Given the description of an element on the screen output the (x, y) to click on. 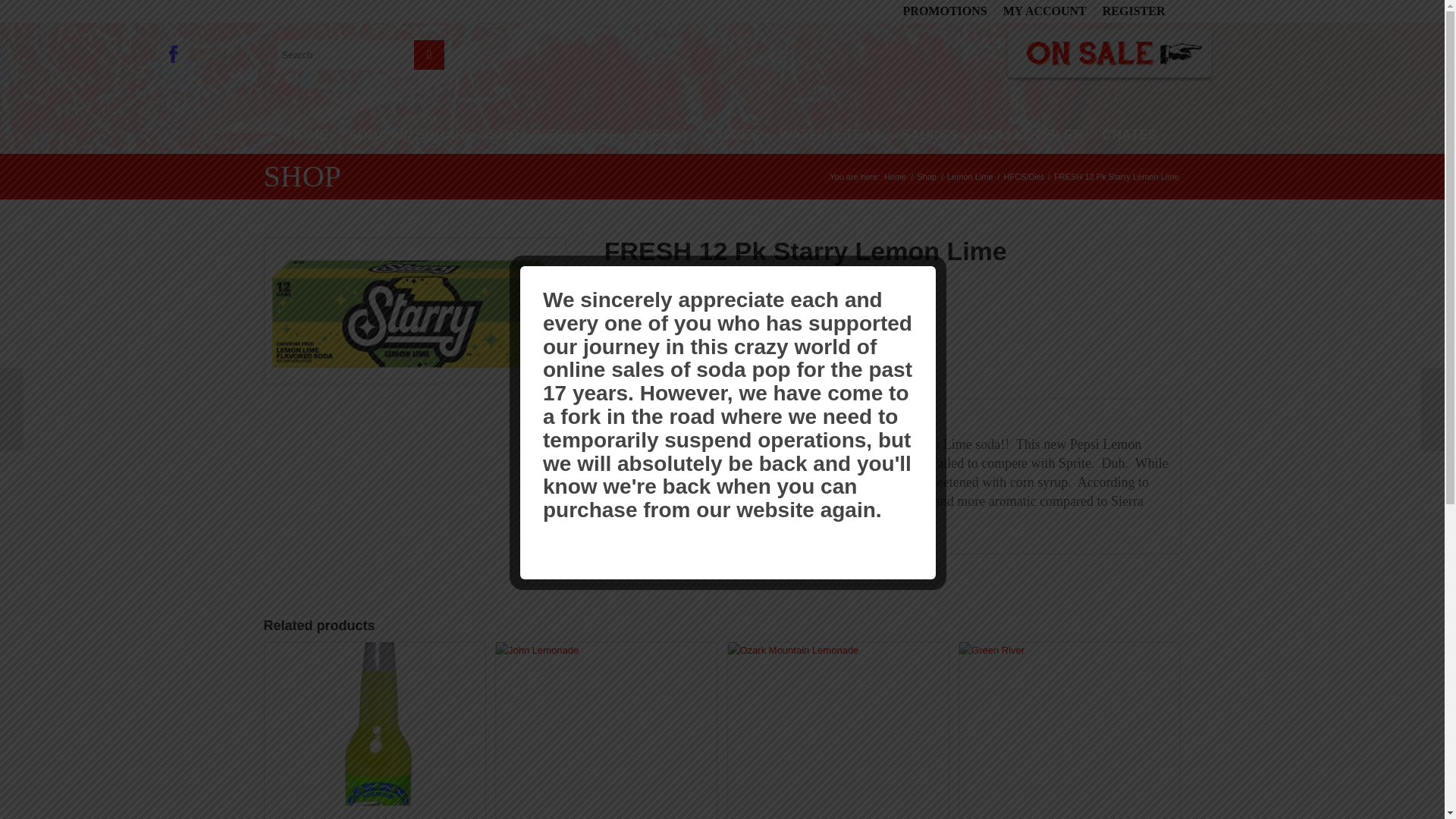
MY ACCOUNT (1044, 11)
Additional information (734, 382)
Home (895, 176)
Lemon Lime (969, 176)
SAUCES (606, 730)
Lemon Lime (929, 134)
Lemon Lime (781, 317)
SHOP (969, 176)
Permanent Link: Shop (301, 175)
